Given the description of an element on the screen output the (x, y) to click on. 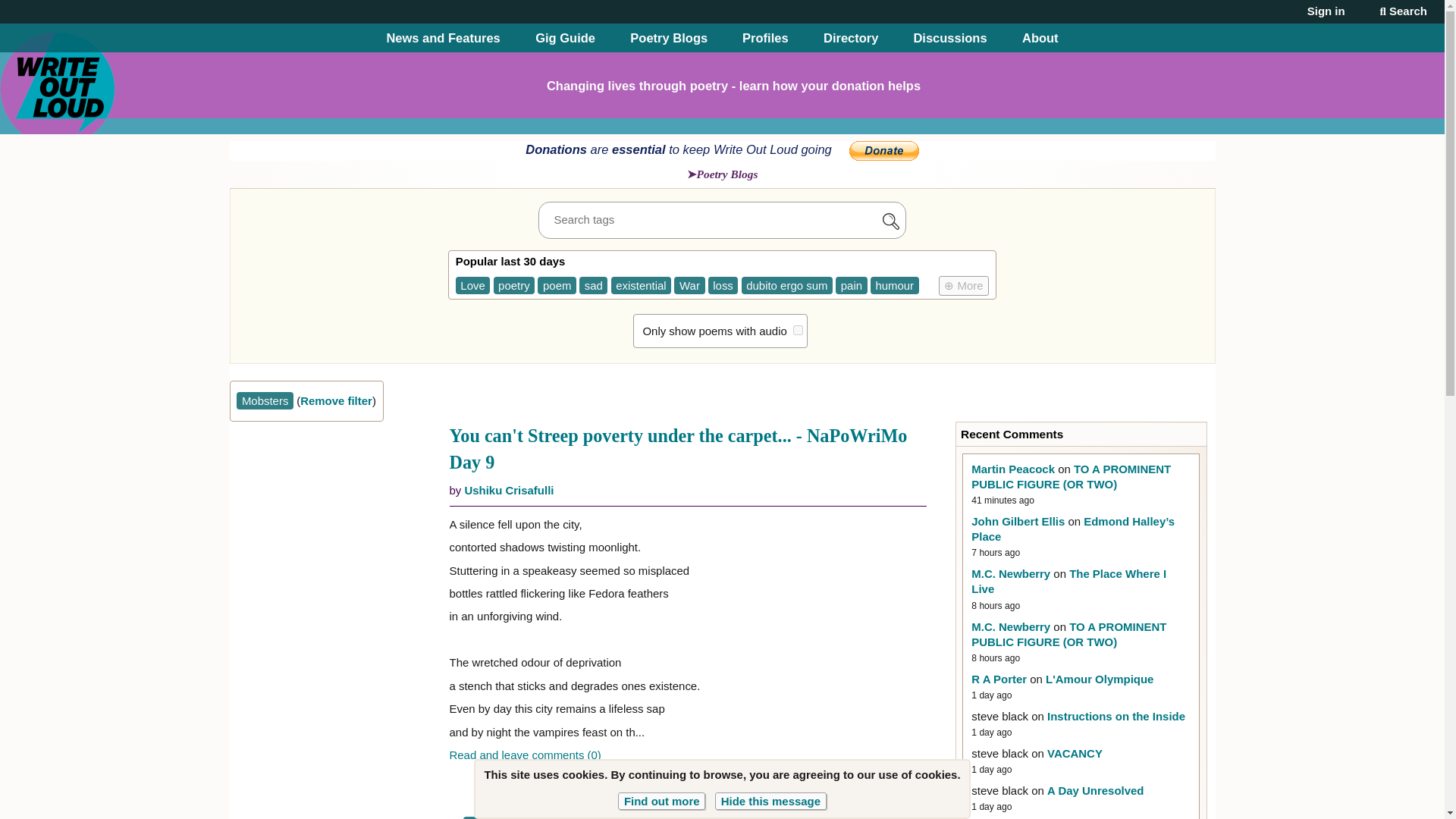
Profiles (765, 38)
War (689, 285)
Remove filter (335, 400)
poetry (513, 285)
sad (593, 285)
dubito ergo sum (786, 285)
Love (472, 285)
Sign in (1326, 10)
pain (850, 285)
PayPal - The safer, easier way to pay online! (883, 150)
